Given the description of an element on the screen output the (x, y) to click on. 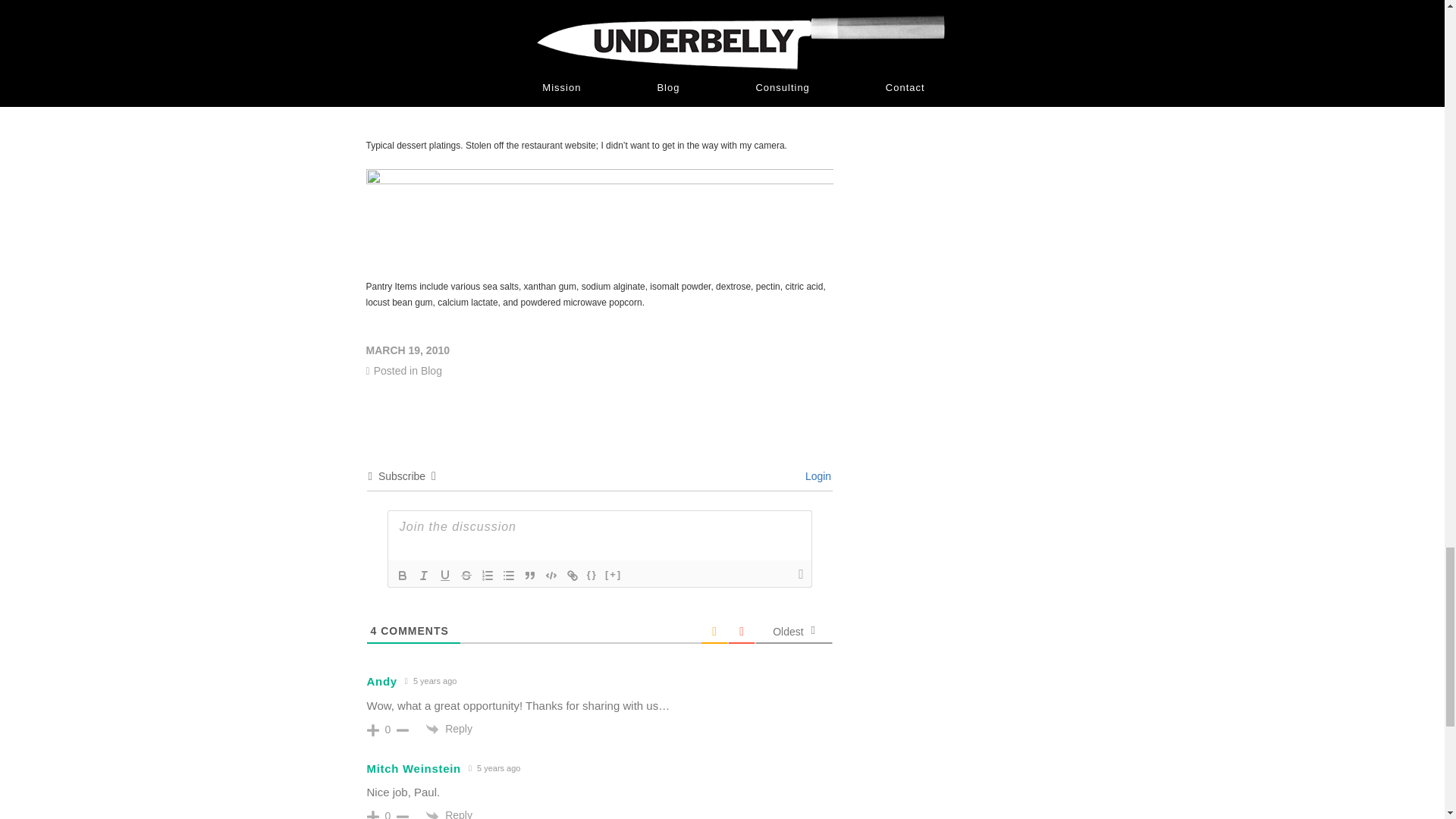
Blog (431, 370)
Blockquote (529, 575)
bullet (508, 575)
Unordered List (508, 575)
Friday, March 19, 2010, 12:21 am (596, 350)
Ordered List (487, 575)
Source Code (592, 575)
Strike (466, 575)
Link (572, 575)
ordered (487, 575)
